Given the description of an element on the screen output the (x, y) to click on. 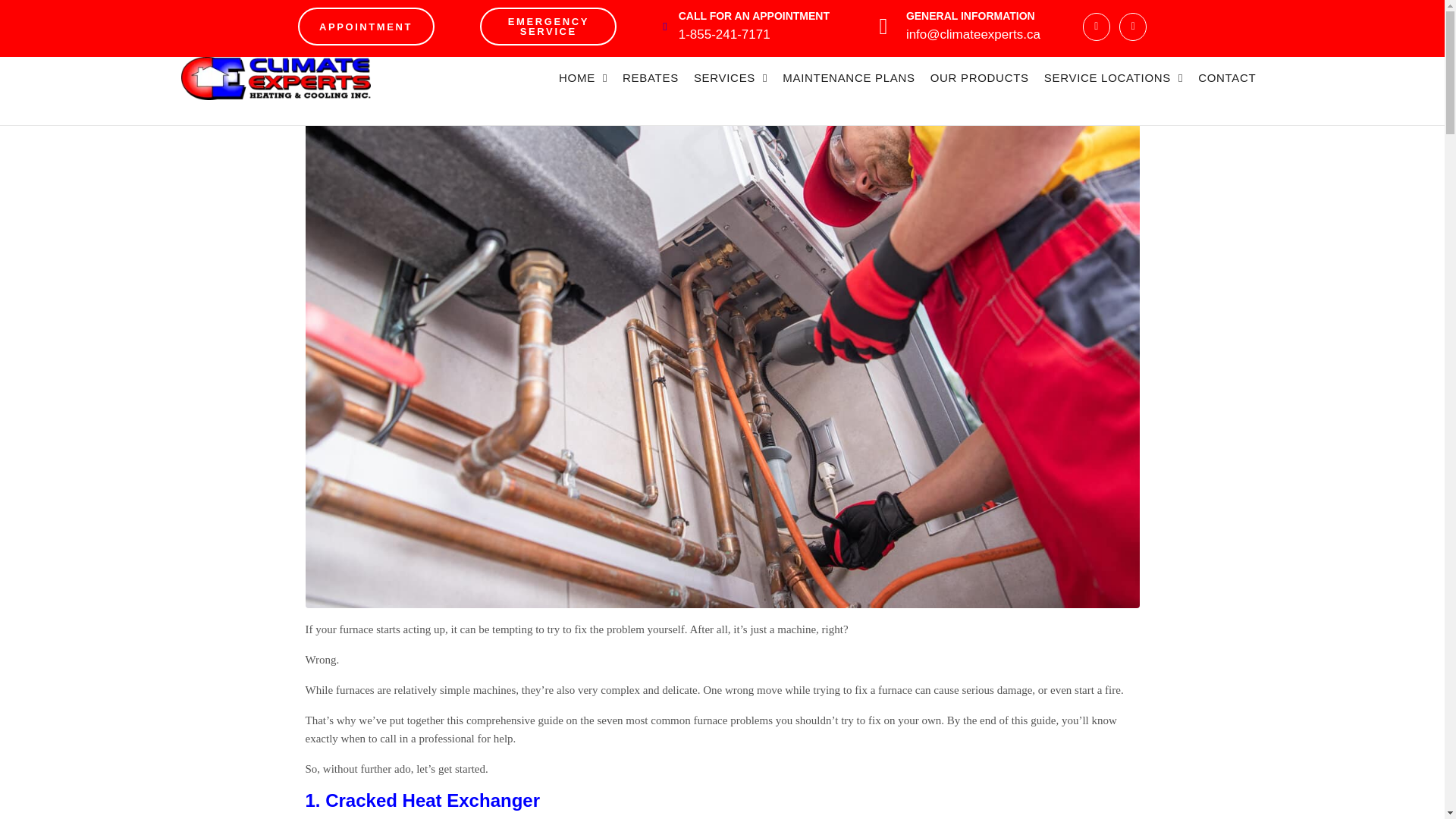
7 Common Furnace Problems Best Left to the Professionals (546, 28)
REBATES (649, 78)
MAINTENANCE PLANS (847, 78)
SERVICES (729, 78)
HOME (582, 78)
1-855-241-7171 (724, 34)
EMERGENCY SERVICE (547, 26)
GENERAL INFORMATION (970, 15)
APPOINTMENT (365, 26)
7 Common Furnace Problems Best Left to the Professionals (721, 328)
CALL FOR AN APPOINTMENT (753, 15)
